Given the description of an element on the screen output the (x, y) to click on. 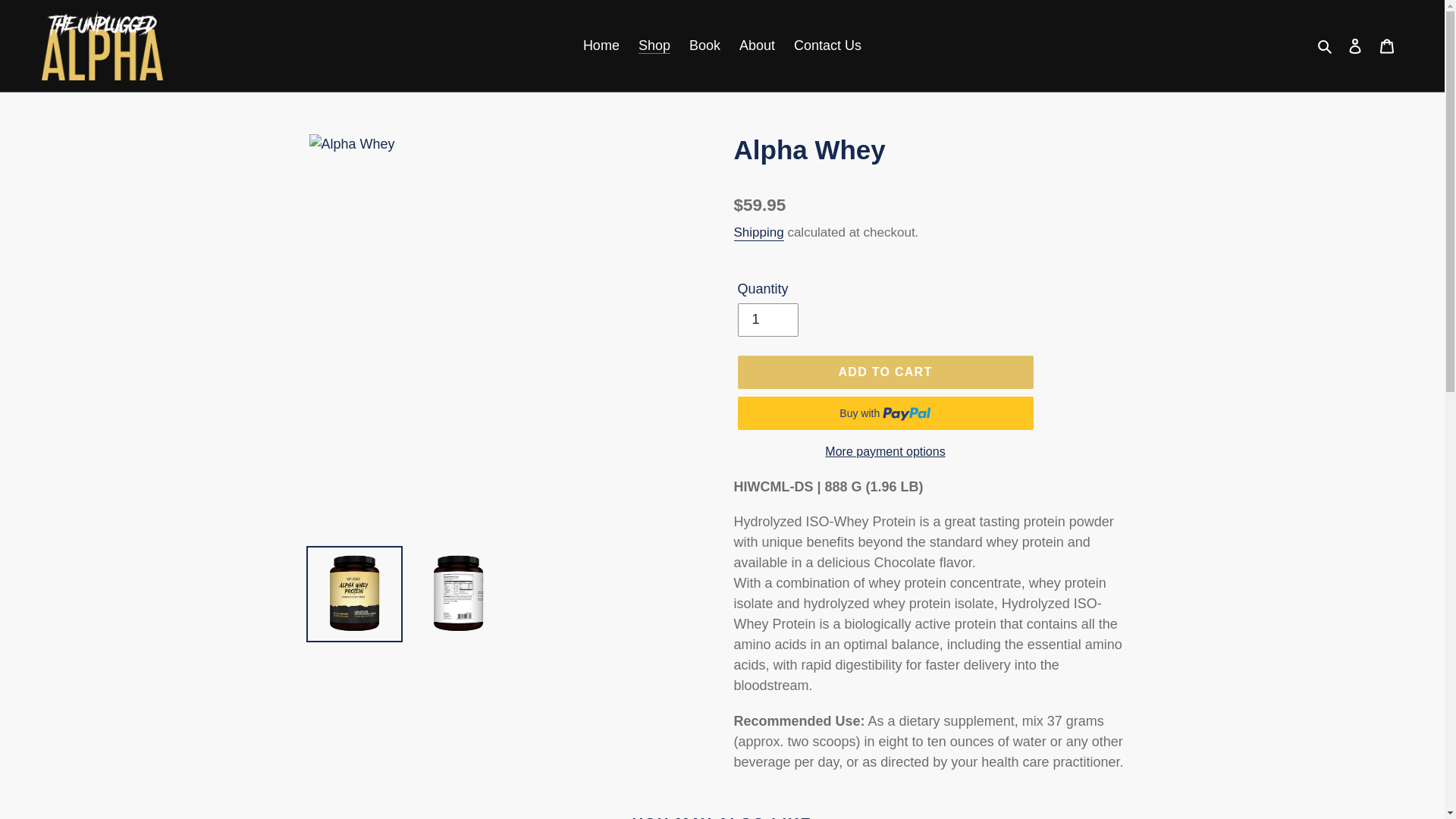
Shipping (758, 232)
Home (601, 45)
Search (1326, 45)
More payment options (884, 451)
ADD TO CART (884, 372)
Shop (654, 45)
About (757, 45)
Cart (1387, 45)
1 (766, 319)
Contact Us (827, 45)
Log in (1355, 45)
Book (704, 45)
